Given the description of an element on the screen output the (x, y) to click on. 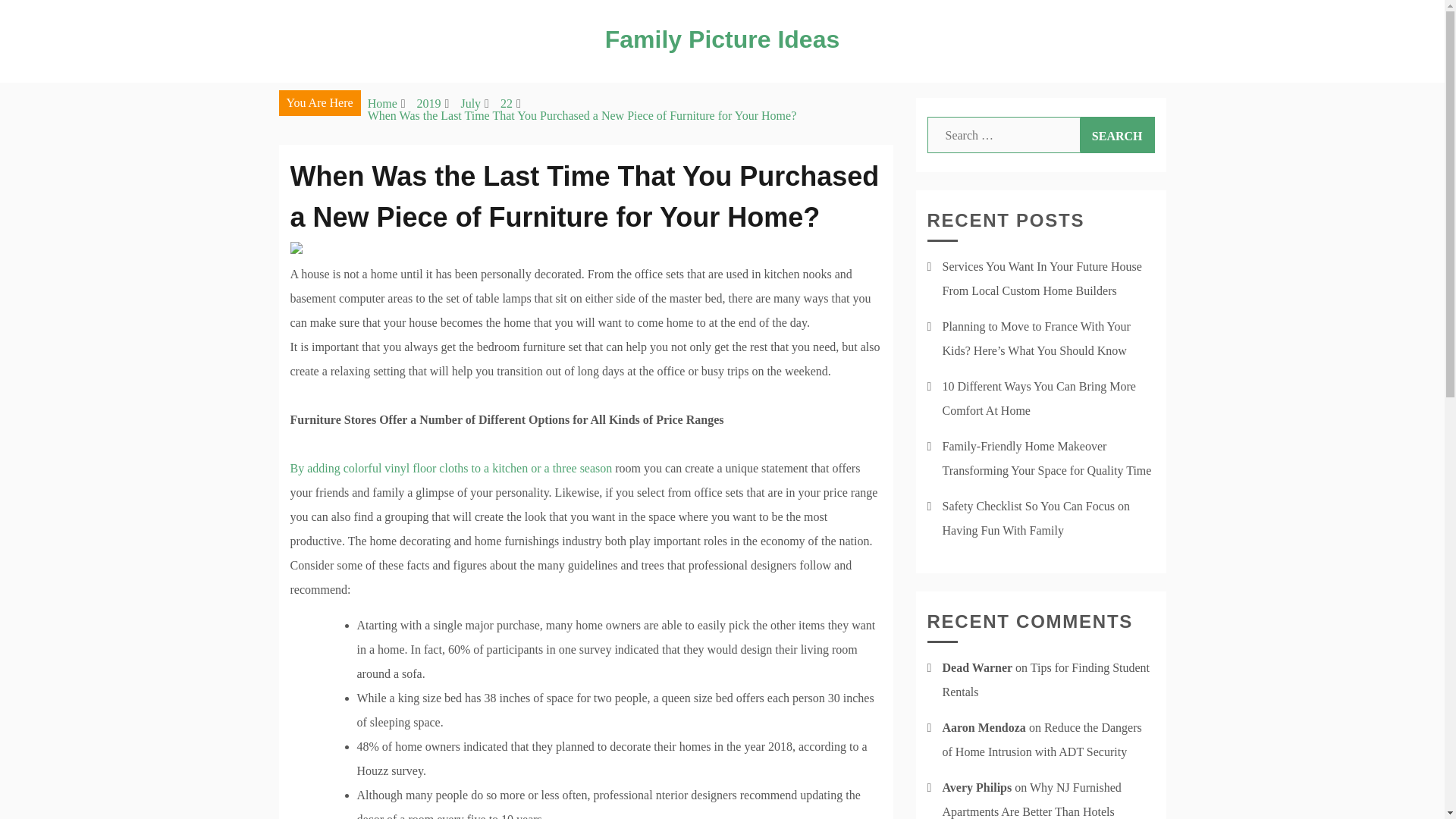
Safety Checklist So You Can Focus on Having Fun With Family (1035, 518)
Search (1117, 135)
Home (382, 103)
Why NJ Furnished Apartments Are Better Than Hotels (1031, 799)
22 (506, 103)
Family Picture Ideas (722, 39)
Tips for Finding Student Rentals (1046, 679)
Search (1117, 135)
Aaron Mendoza (983, 727)
Reduce the Dangers of Home Intrusion with ADT Security (1041, 739)
10 Different Ways You Can Bring More Comfort At Home (1038, 398)
Search (1117, 135)
July (470, 103)
